Given the description of an element on the screen output the (x, y) to click on. 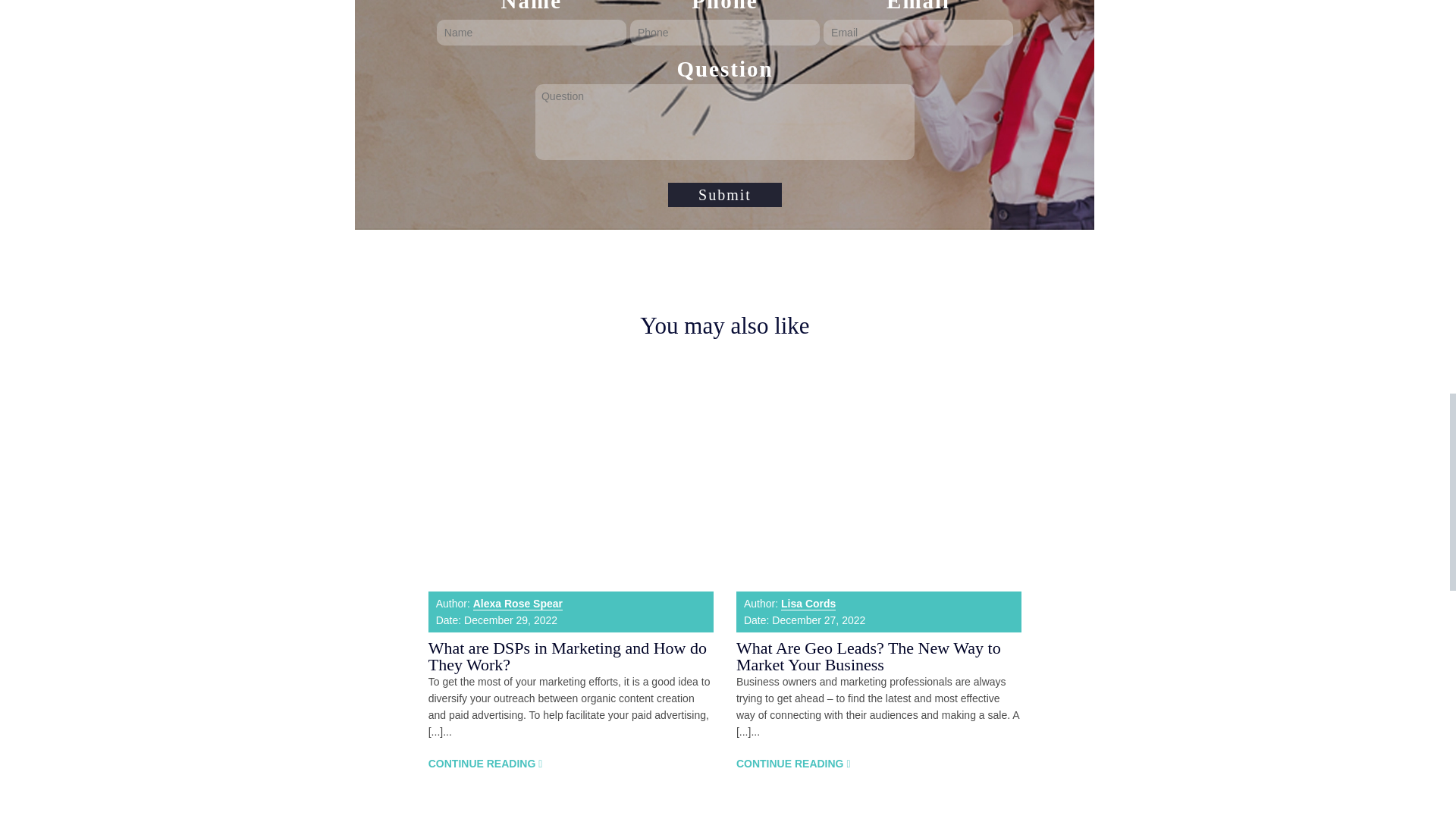
Submit (724, 194)
